Given the description of an element on the screen output the (x, y) to click on. 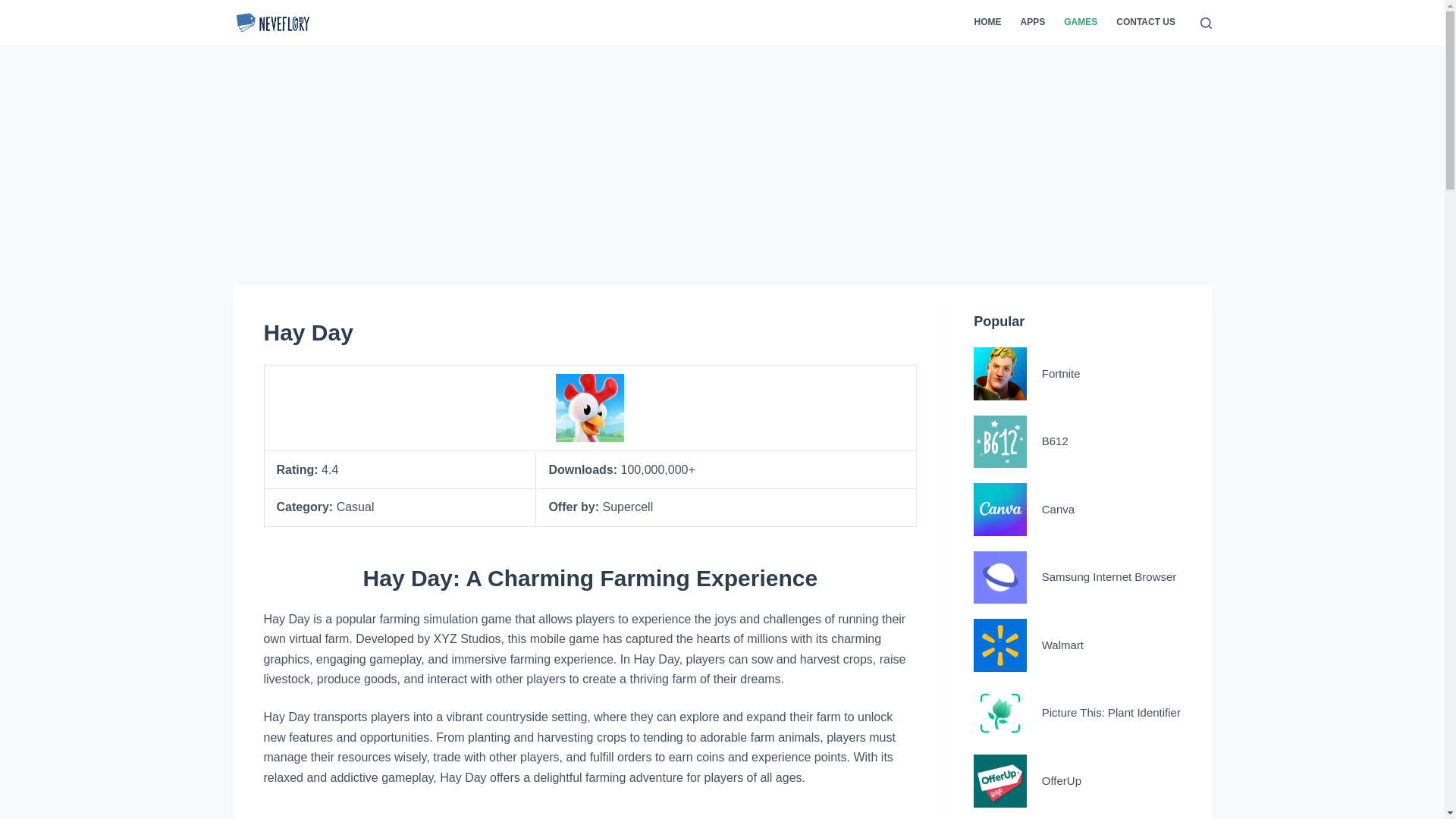
Picture This: Plant Identifier (1079, 713)
HOME (986, 22)
CONTACT US (1145, 22)
B612 (1079, 441)
Walmart (1079, 645)
Hay Day (590, 332)
GAMES (1080, 22)
Skip to content (15, 7)
Canva (1079, 509)
Samsung Internet Browser (1079, 577)
Fortnite (1079, 373)
APPS (1032, 22)
OfferUp (1079, 780)
